Given the description of an element on the screen output the (x, y) to click on. 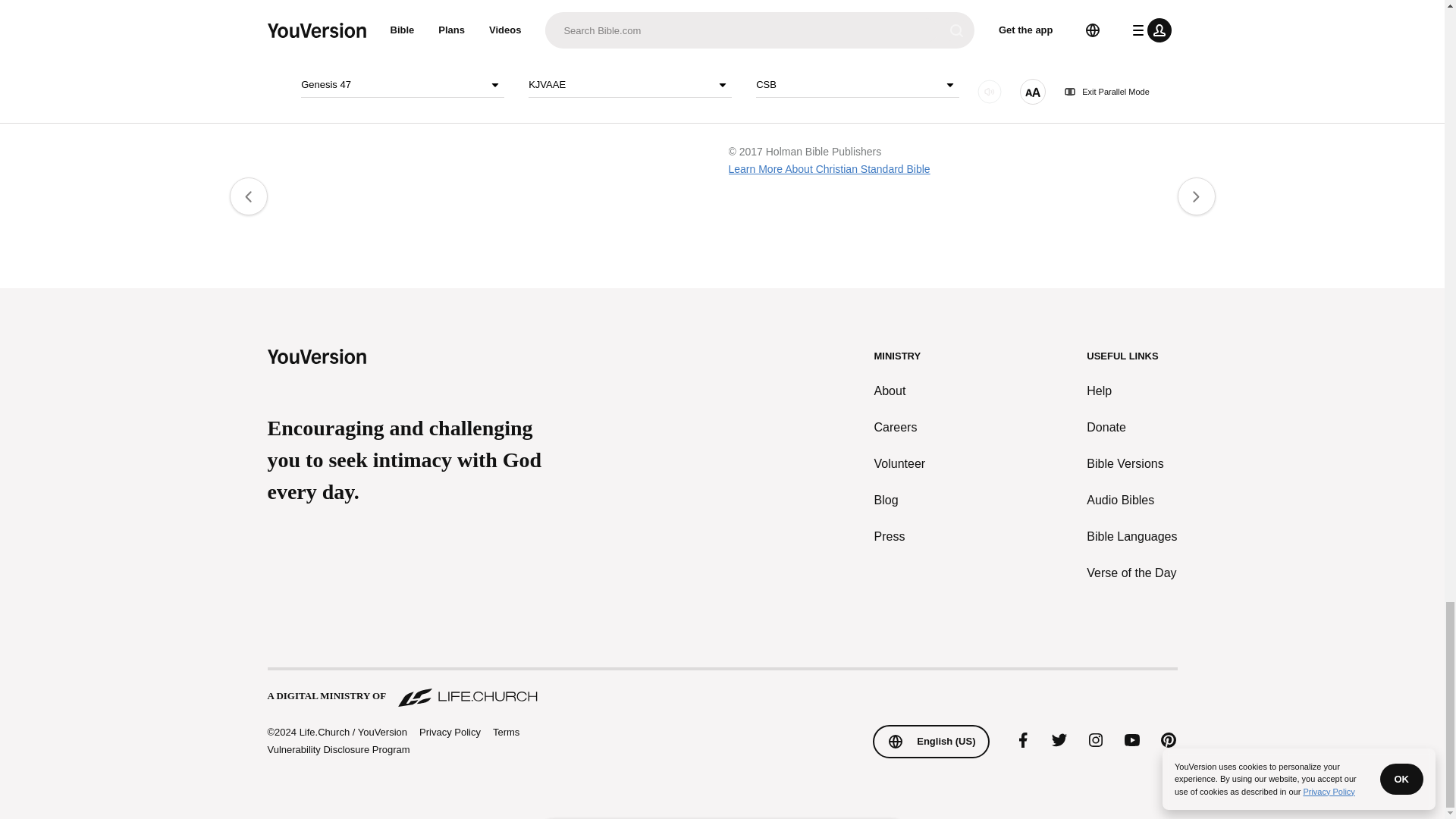
A DIGITAL MINISTRY OF (721, 688)
Privacy Policy (449, 732)
Blog (900, 500)
Learn More About Christian Standard Bible (829, 168)
About (900, 391)
Donate (1131, 427)
Press (900, 536)
Help (1131, 391)
Bible Versions (1131, 464)
Audio Bibles (1131, 500)
Terms (506, 731)
Bible Languages (1131, 536)
Volunteer (900, 464)
Vulnerability Disclosure Program (337, 749)
Careers (900, 427)
